Given the description of an element on the screen output the (x, y) to click on. 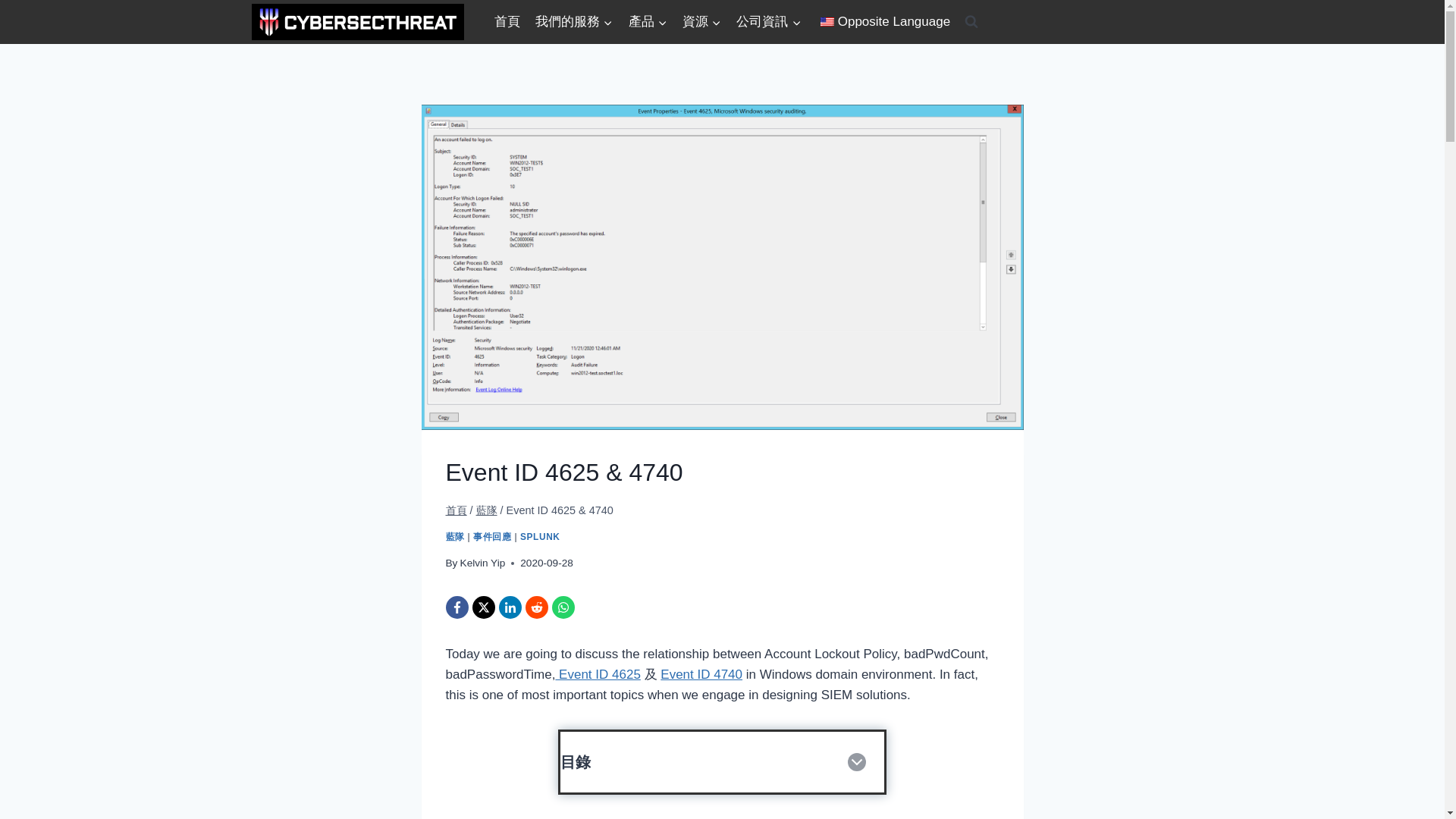
Opposite Language (827, 21)
